Given the description of an element on the screen output the (x, y) to click on. 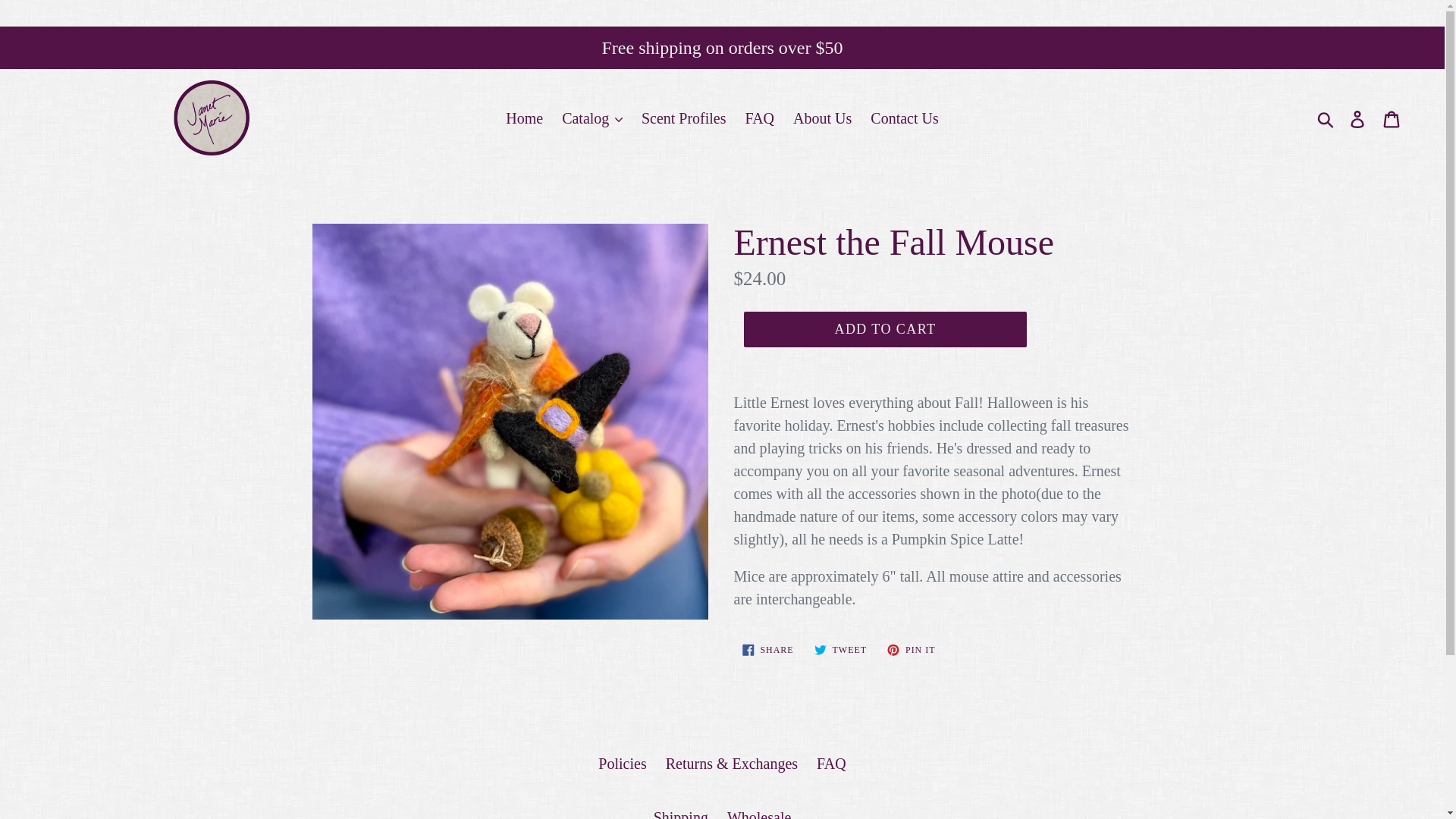
Contact Us (903, 117)
FAQ (760, 117)
Home (523, 117)
Scent Profiles (683, 117)
Log in (1357, 117)
Submit (1326, 117)
About Us (822, 117)
Cart (1392, 117)
